Given the description of an element on the screen output the (x, y) to click on. 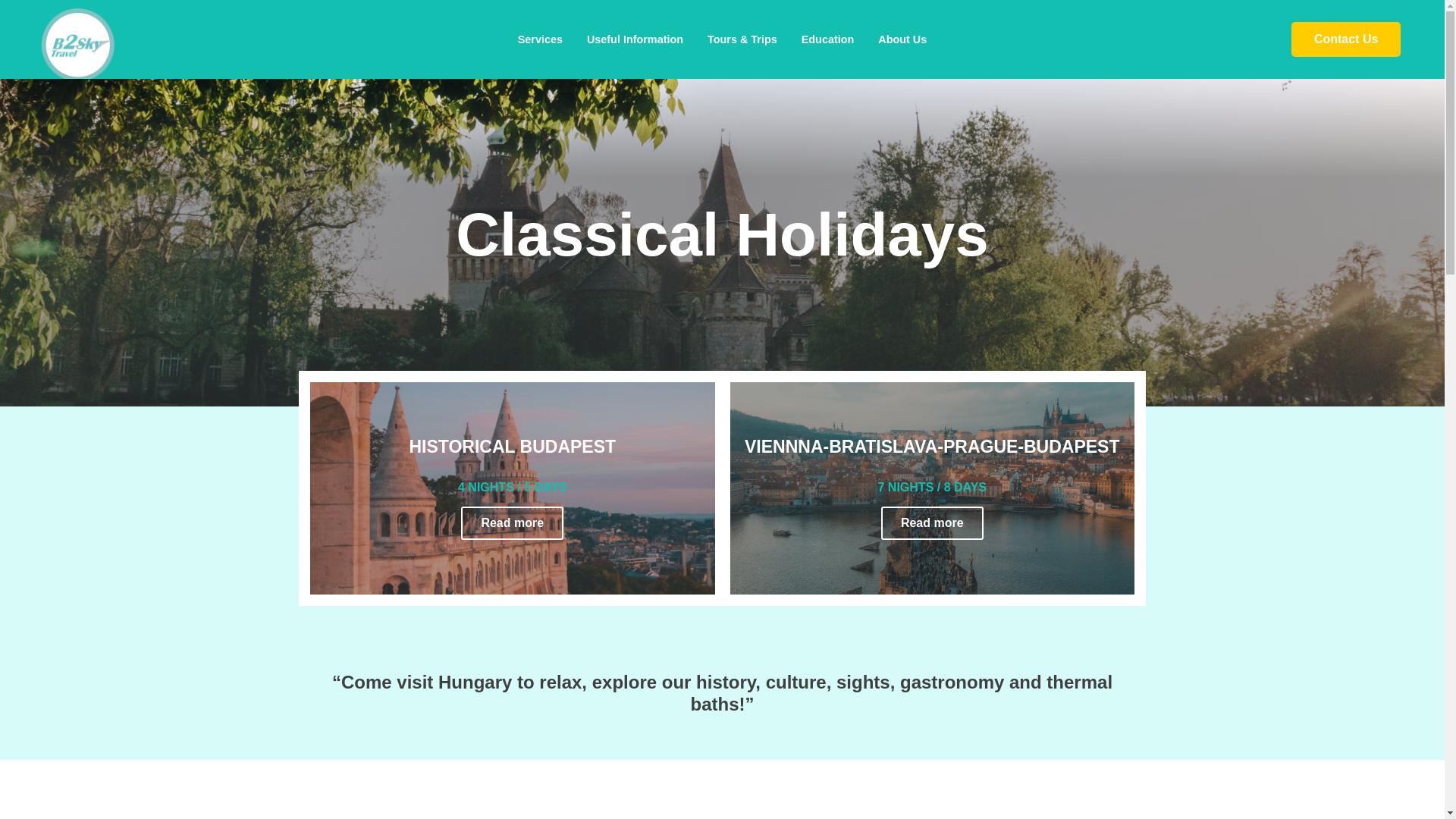
About Us (902, 38)
Education (827, 38)
Services (540, 38)
Useful Information (635, 38)
